Given the description of an element on the screen output the (x, y) to click on. 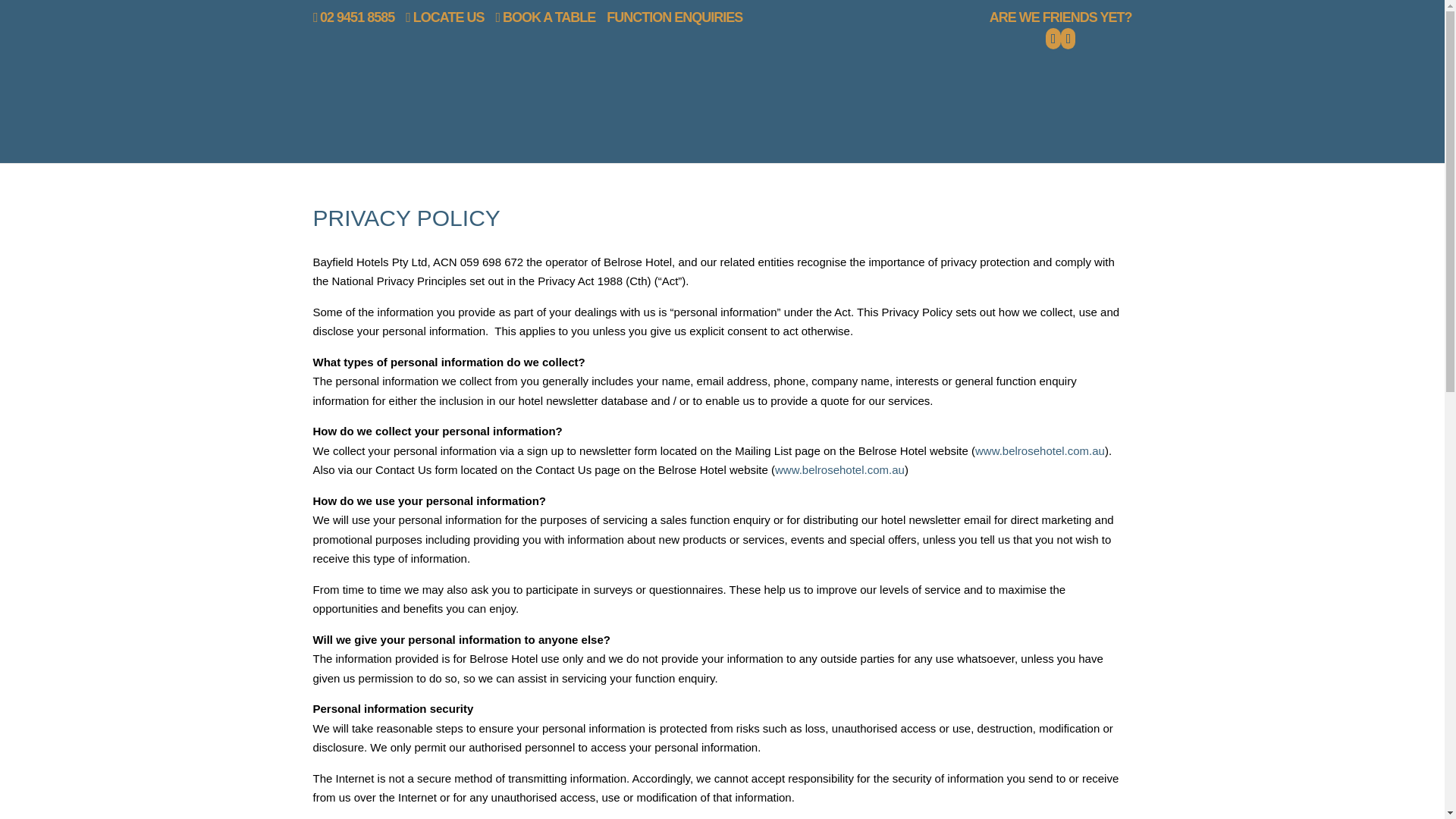
FUNCTION ENQUIRIES (674, 17)
LOCATE US (444, 17)
www.belrosehotel.com.au (839, 469)
www.belrosehotel.com.au (1040, 450)
02 9451 8585 (353, 17)
BOOK A TABLE (545, 17)
